Given the description of an element on the screen output the (x, y) to click on. 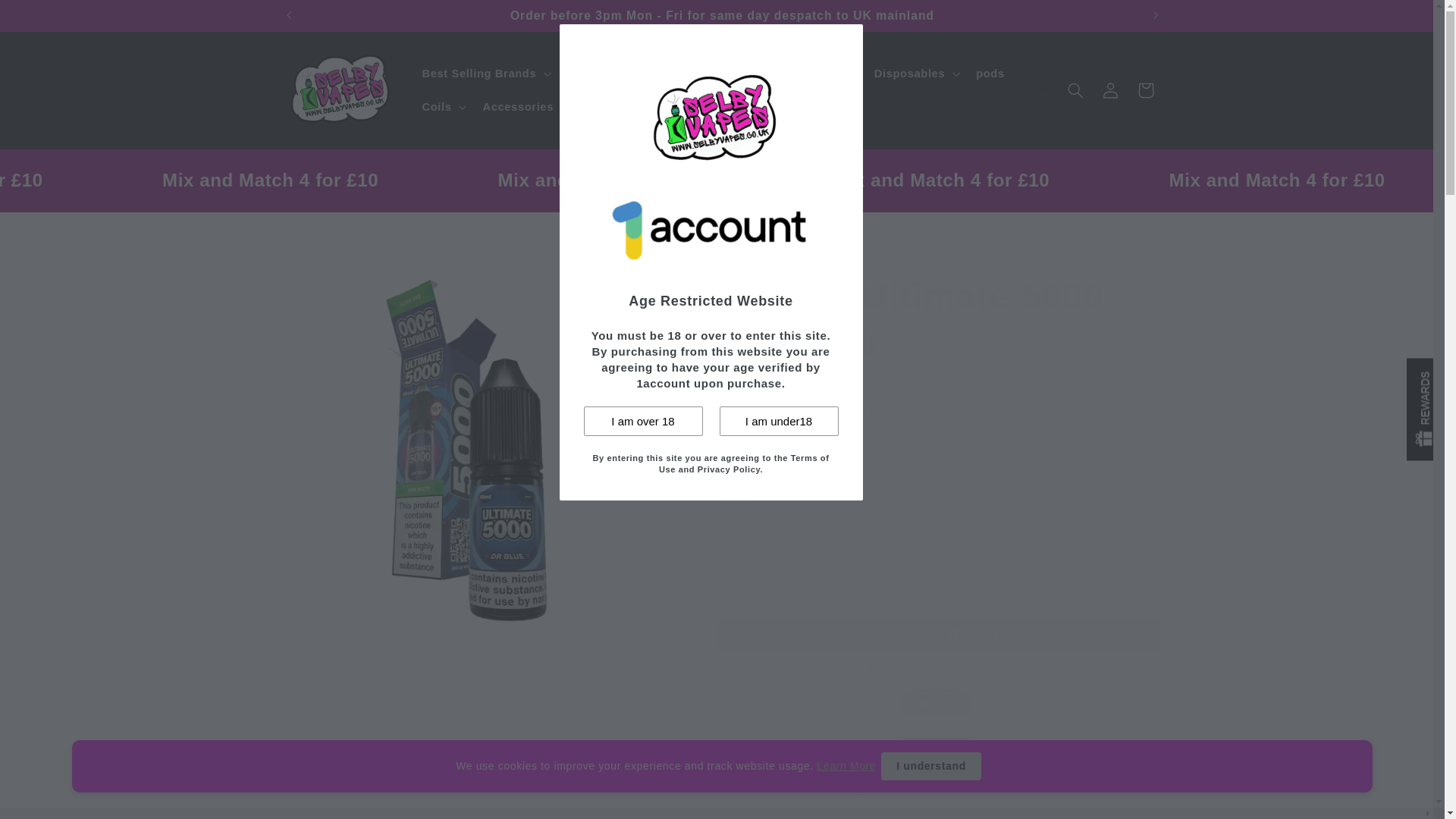
I am over 18 (643, 420)
Skip to content (48, 18)
I am under18 (778, 420)
1 (771, 533)
Volume Discount badge (934, 720)
